Given the description of an element on the screen output the (x, y) to click on. 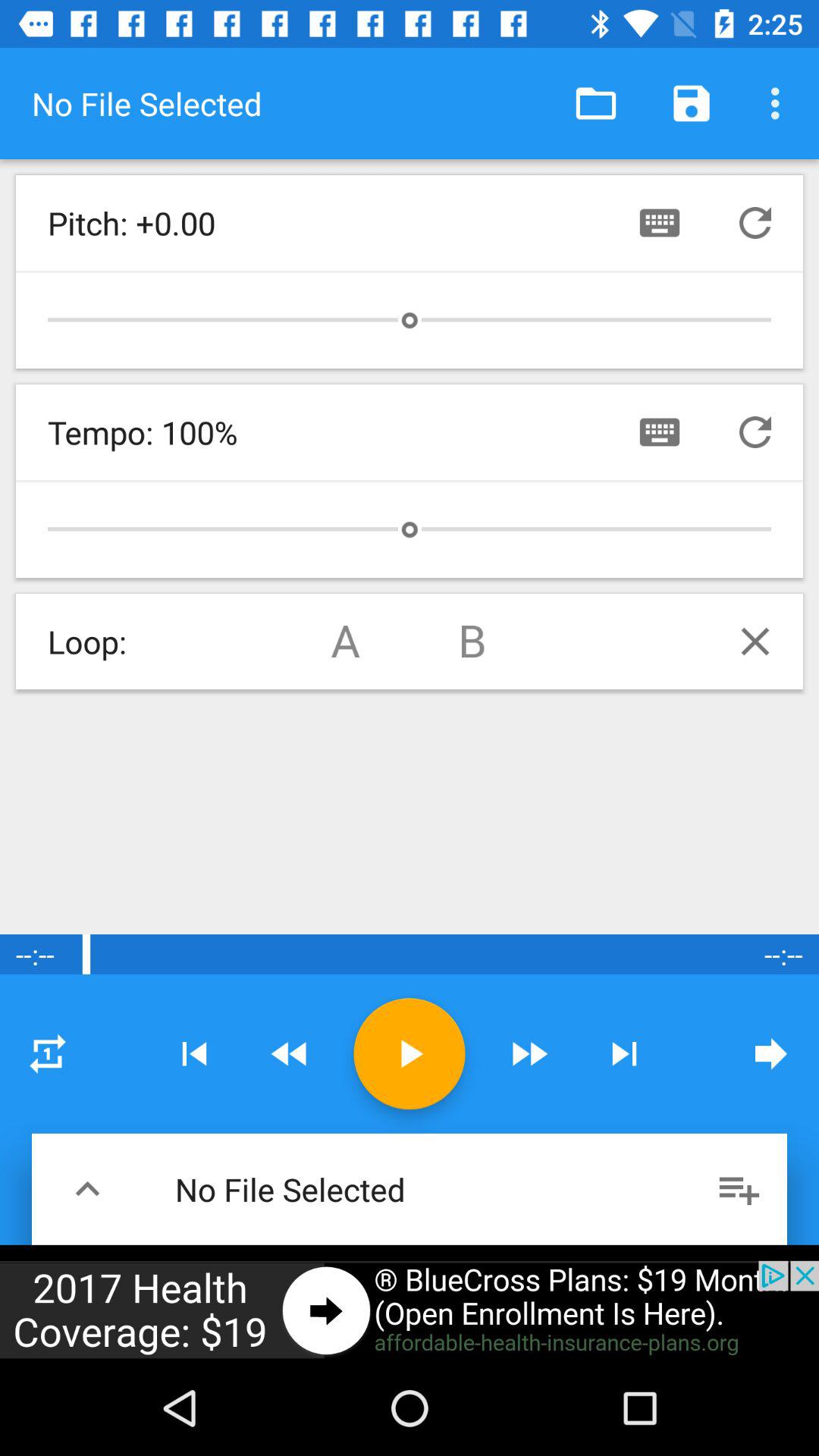
reload option (755, 222)
